Given the description of an element on the screen output the (x, y) to click on. 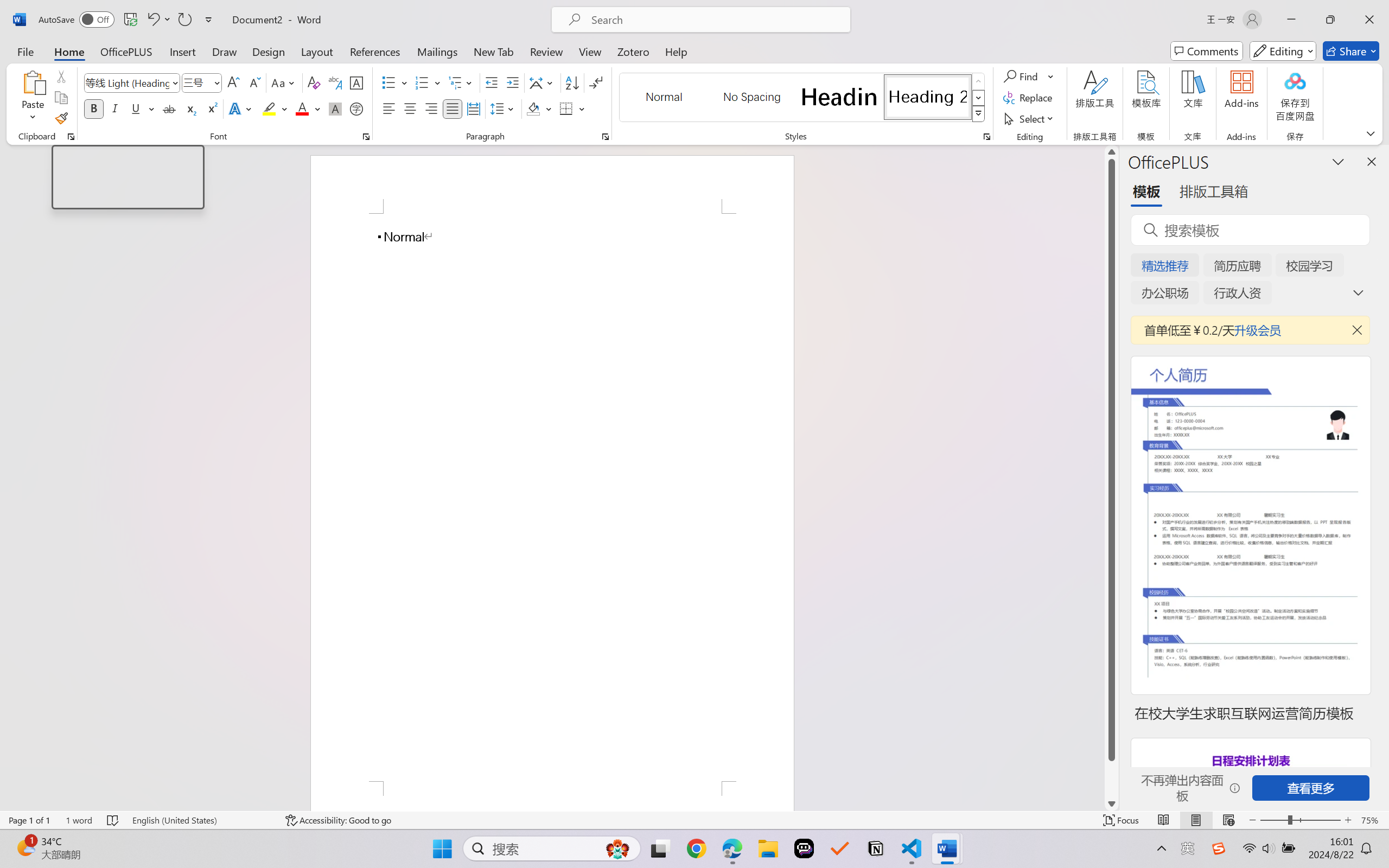
Accessibility Checker Accessibility: Good to go (338, 819)
AutomationID: BadgeAnchorLargeTicker (24, 847)
Customize Quick Access Toolbar (208, 19)
Replace... (1029, 97)
Strikethrough (169, 108)
Font... (365, 136)
Center (409, 108)
Word Count 1 word (78, 819)
Mailings (437, 51)
Heading 1 (839, 96)
New Tab (493, 51)
Cut (60, 75)
